Given the description of an element on the screen output the (x, y) to click on. 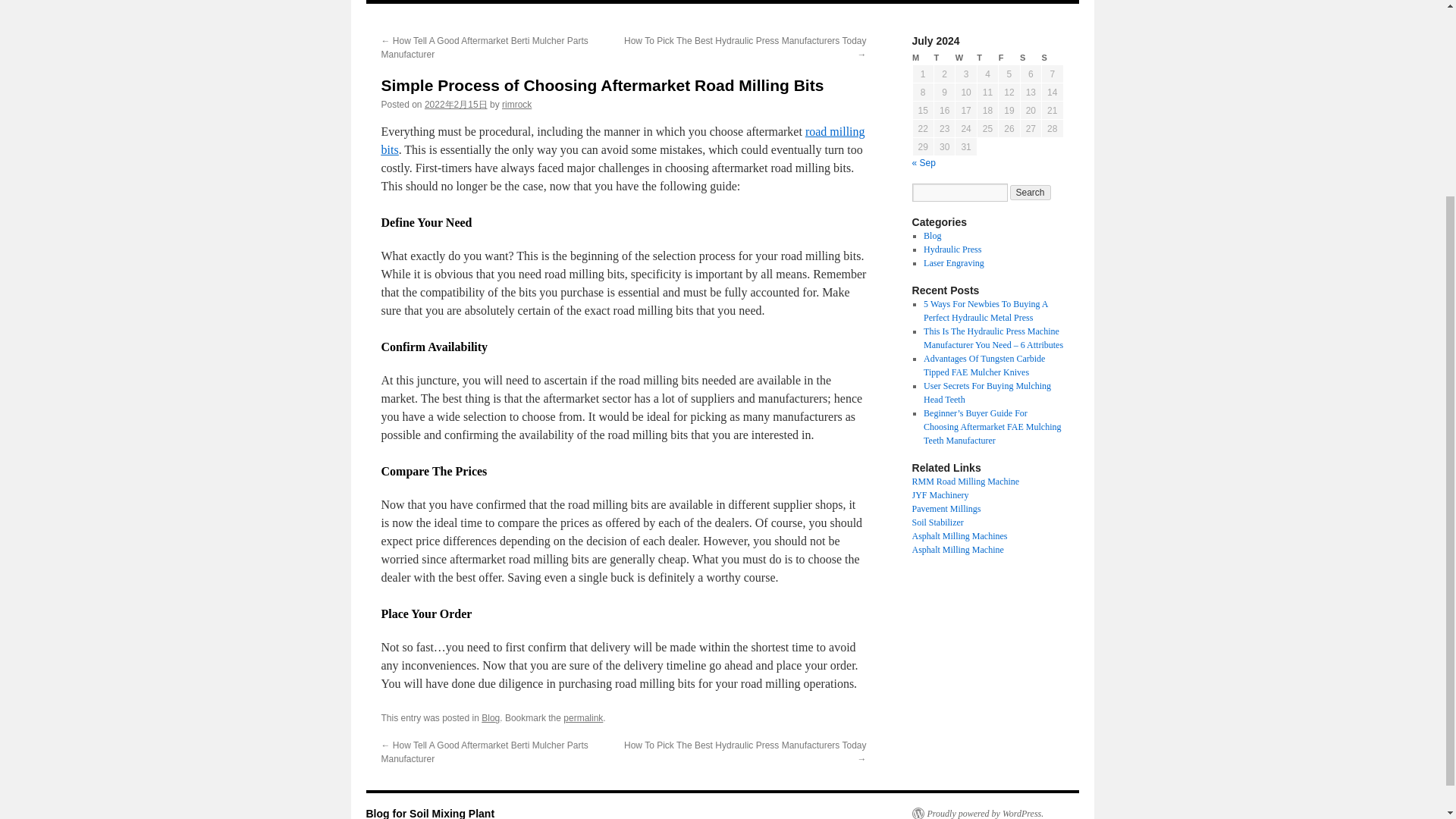
Saturday (1030, 57)
permalink (582, 717)
Asphalt Milling Machines (959, 535)
Blog (433, 2)
Sunday (1052, 57)
JYF Machinery (939, 494)
Search (1030, 192)
Home (395, 2)
16:00 (456, 104)
Wednesday (965, 57)
Search (1030, 192)
Advantages Of Tungsten Carbide Tipped FAE Mulcher Knives (984, 364)
Asphalt Milling Machine (957, 549)
Laser Engraving (953, 262)
RMM Road Milling Machine (965, 480)
